Given the description of an element on the screen output the (x, y) to click on. 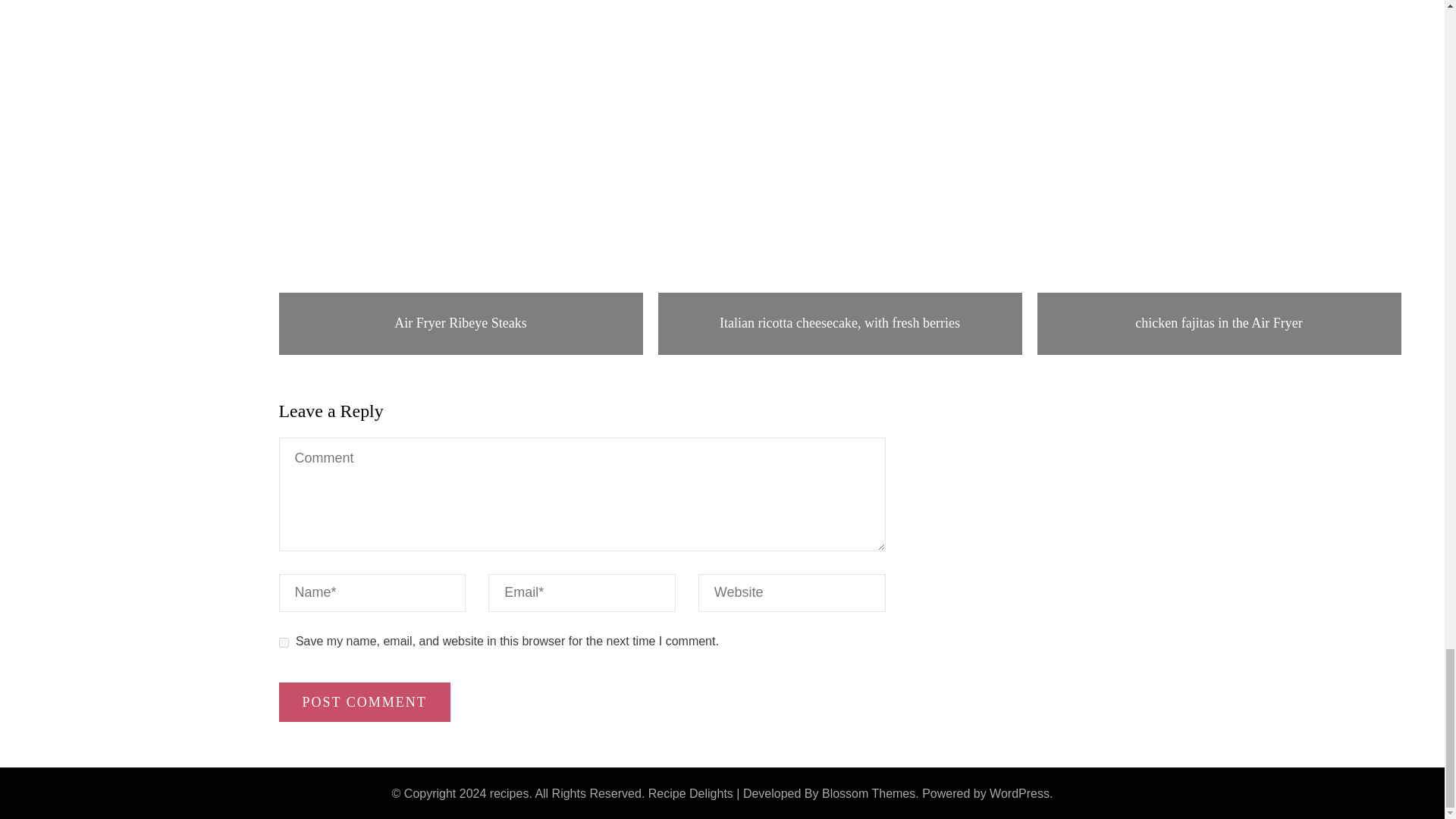
Post Comment (364, 701)
Post Comment (364, 701)
Italian ricotta cheesecake, with fresh berries (839, 323)
yes (283, 642)
chicken fajitas in the Air Fryer (1219, 323)
Air Fryer Ribeye Steaks (460, 323)
